Given the description of an element on the screen output the (x, y) to click on. 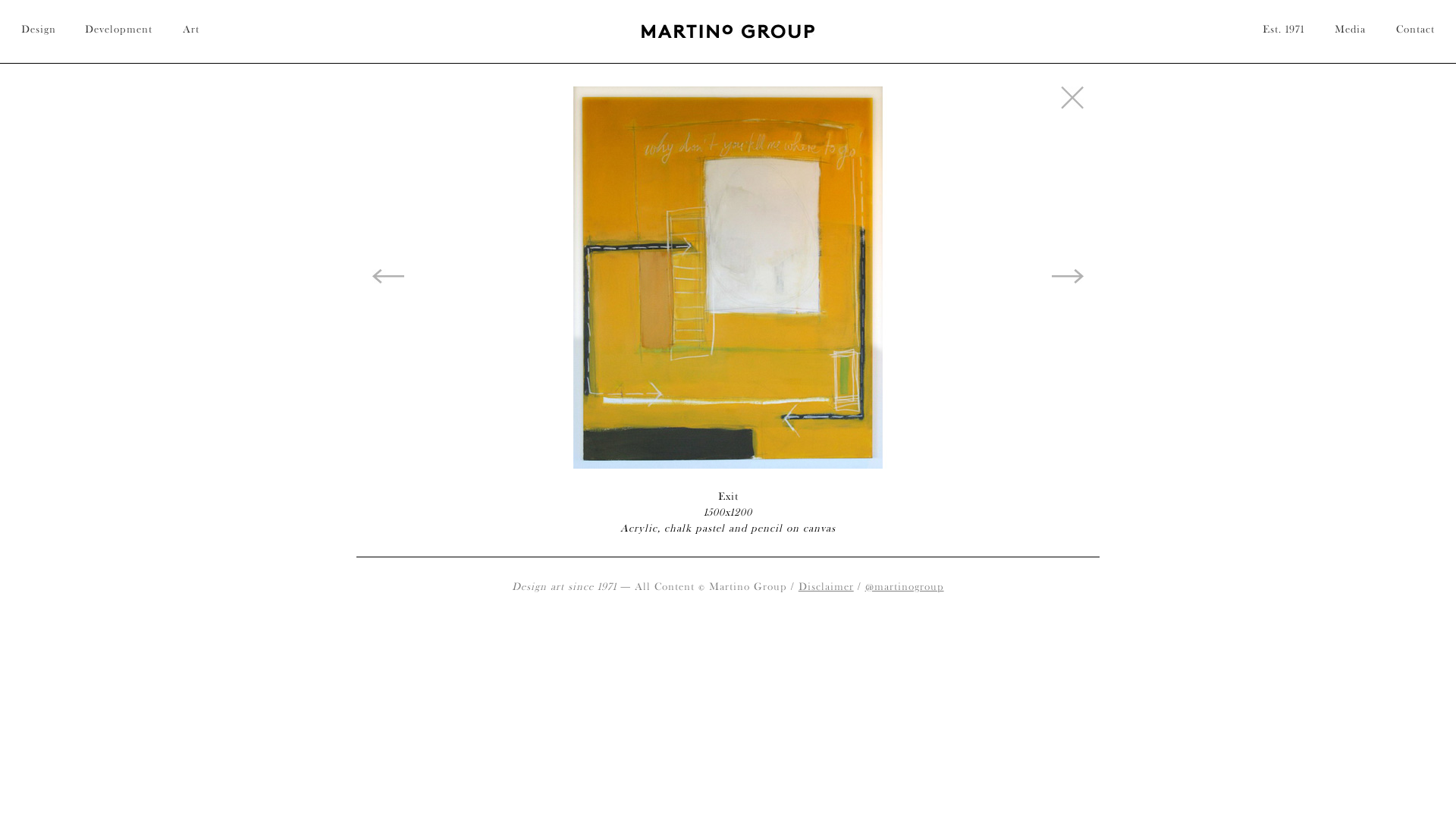
Media Element type: text (1349, 31)
Contact Element type: text (1407, 31)
@martinogroup Element type: text (904, 586)
Art Element type: text (190, 31)
Design Element type: text (45, 31)
Development Element type: text (118, 31)
Est. 1971 Element type: text (1283, 31)
Disclaimer Element type: text (825, 586)
